Given the description of an element on the screen output the (x, y) to click on. 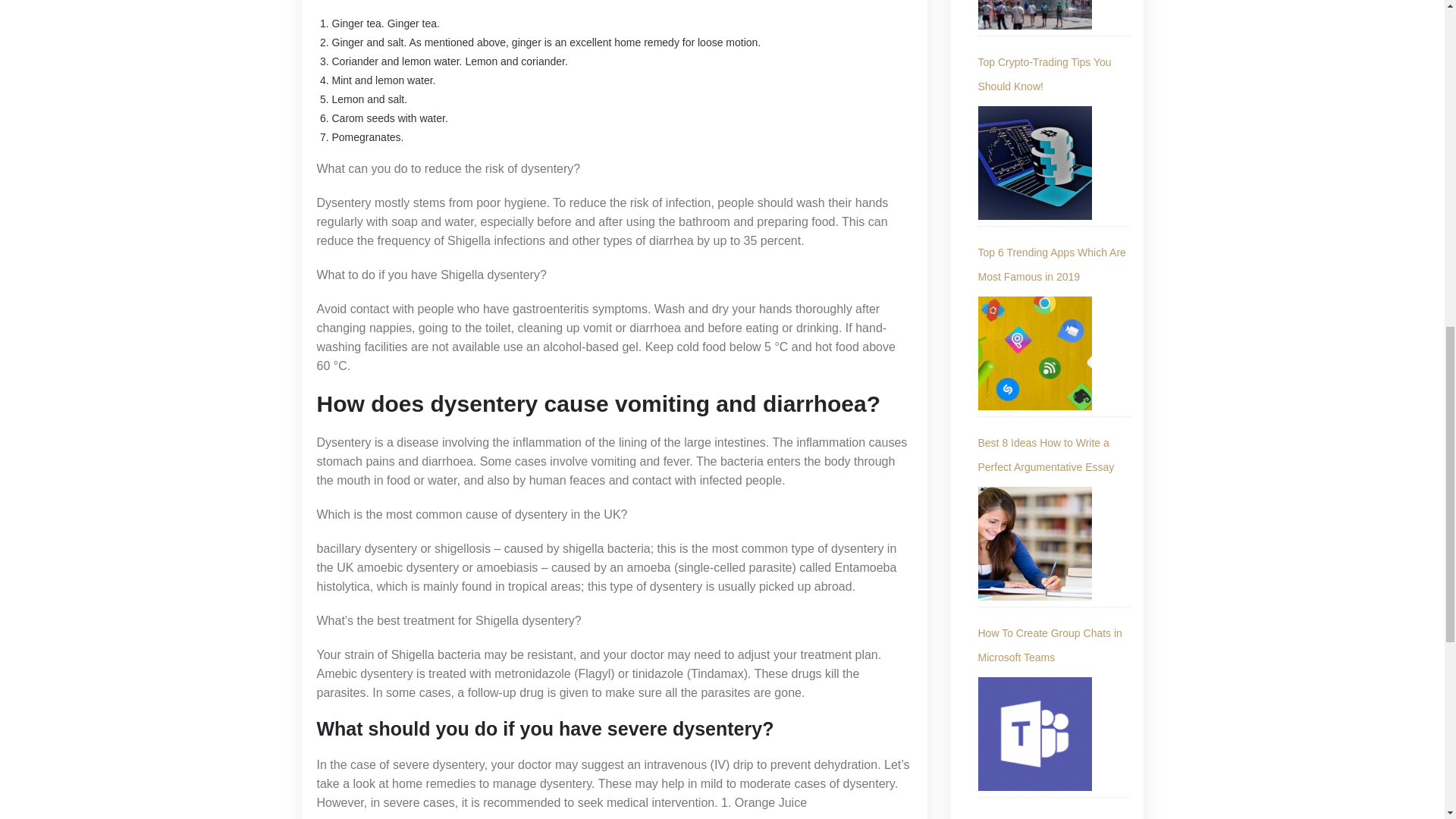
Best 8 Ideas How to Write a Perfect Argumentative Essay (1035, 543)
Top 6 Trending Apps Which Are Most Famous in 2019 (1035, 353)
How To Create Group Chats in Microsoft Teams (1035, 734)
Exciting Experiences in Chicago in 2019 (1035, 14)
How To Create Group Chats in Microsoft Teams (1054, 644)
Top 6 Trending Apps Which Are Most Famous in 2019 (1054, 264)
Best 8 Ideas How to Write a Perfect Argumentative Essay (1054, 454)
Top Crypto-Trading Tips You Should Know!  (1054, 73)
Ways To Create An Ideal Sleep Environment (1054, 815)
